Given the description of an element on the screen output the (x, y) to click on. 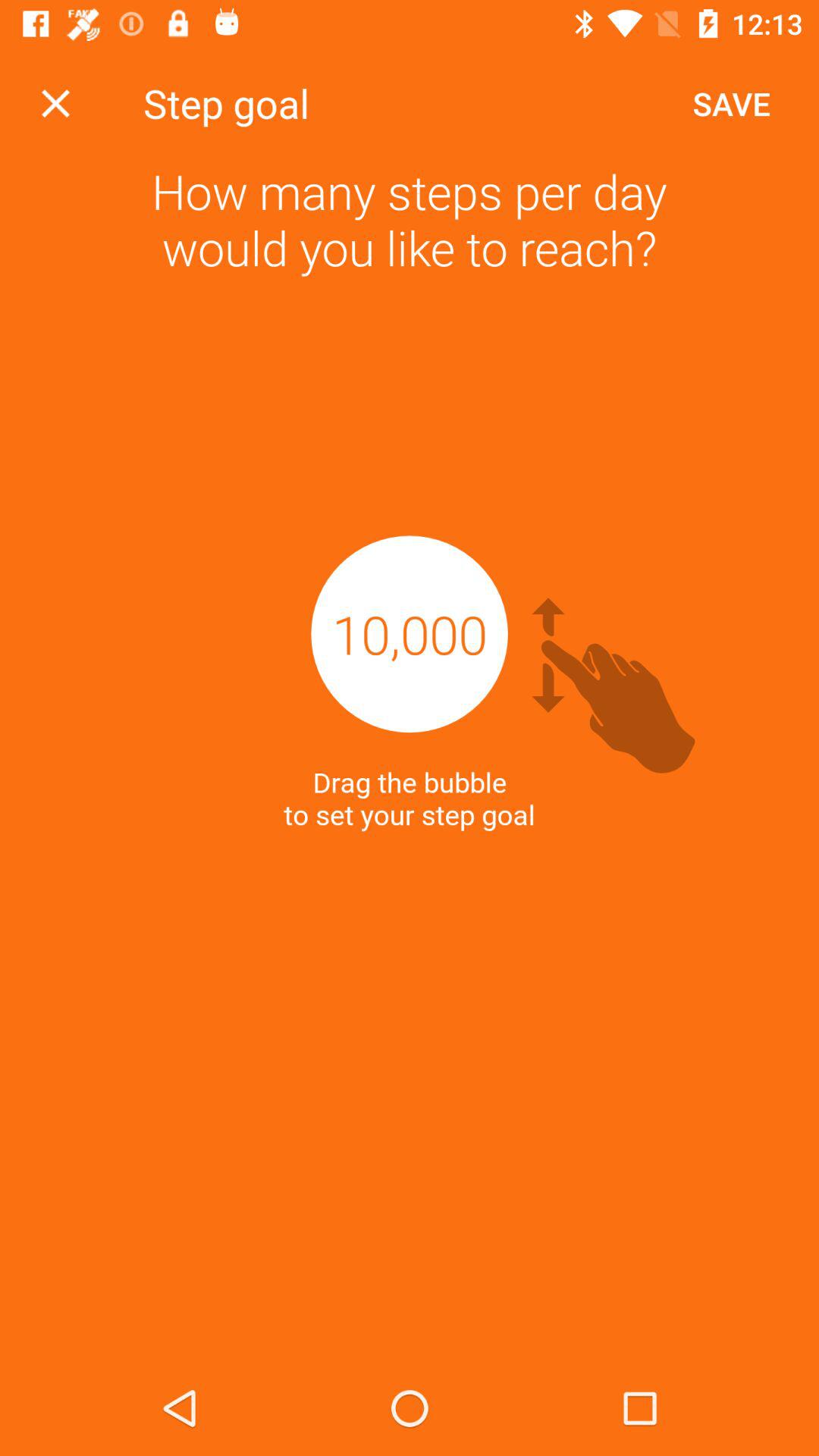
click the app above the how many steps icon (55, 103)
